Given the description of an element on the screen output the (x, y) to click on. 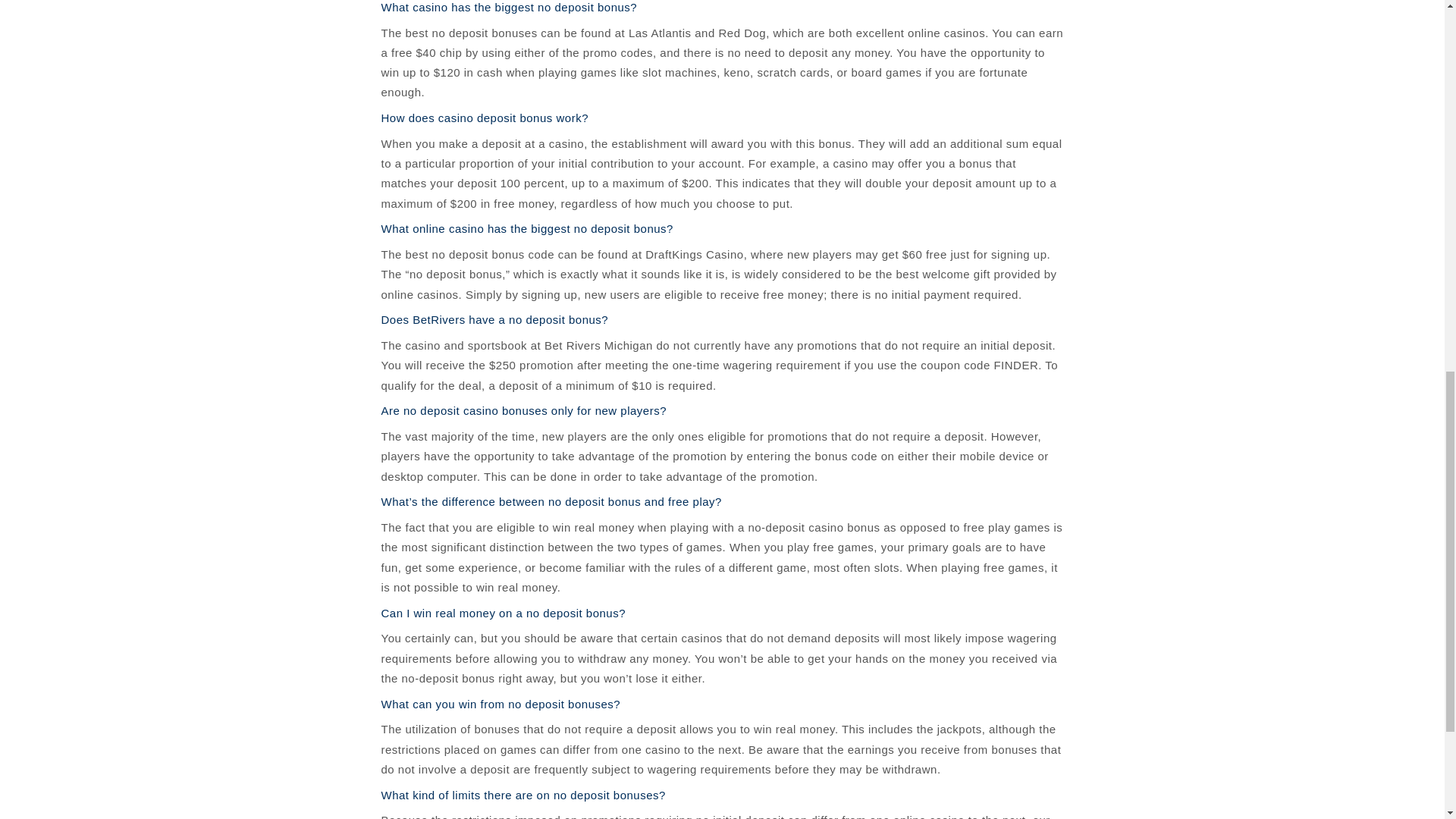
What kind of limits there are on no deposit bonuses? (522, 794)
How does casino deposit bonus work? (484, 117)
What online casino has the biggest no deposit bonus? (526, 228)
What can you win from no deposit bonuses? (500, 703)
What casino has the biggest no deposit bonus? (508, 6)
Are no deposit casino bonuses only for new players? (523, 410)
Does BetRivers have a no deposit bonus? (494, 318)
Can I win real money on a no deposit bonus? (503, 612)
